Given the description of an element on the screen output the (x, y) to click on. 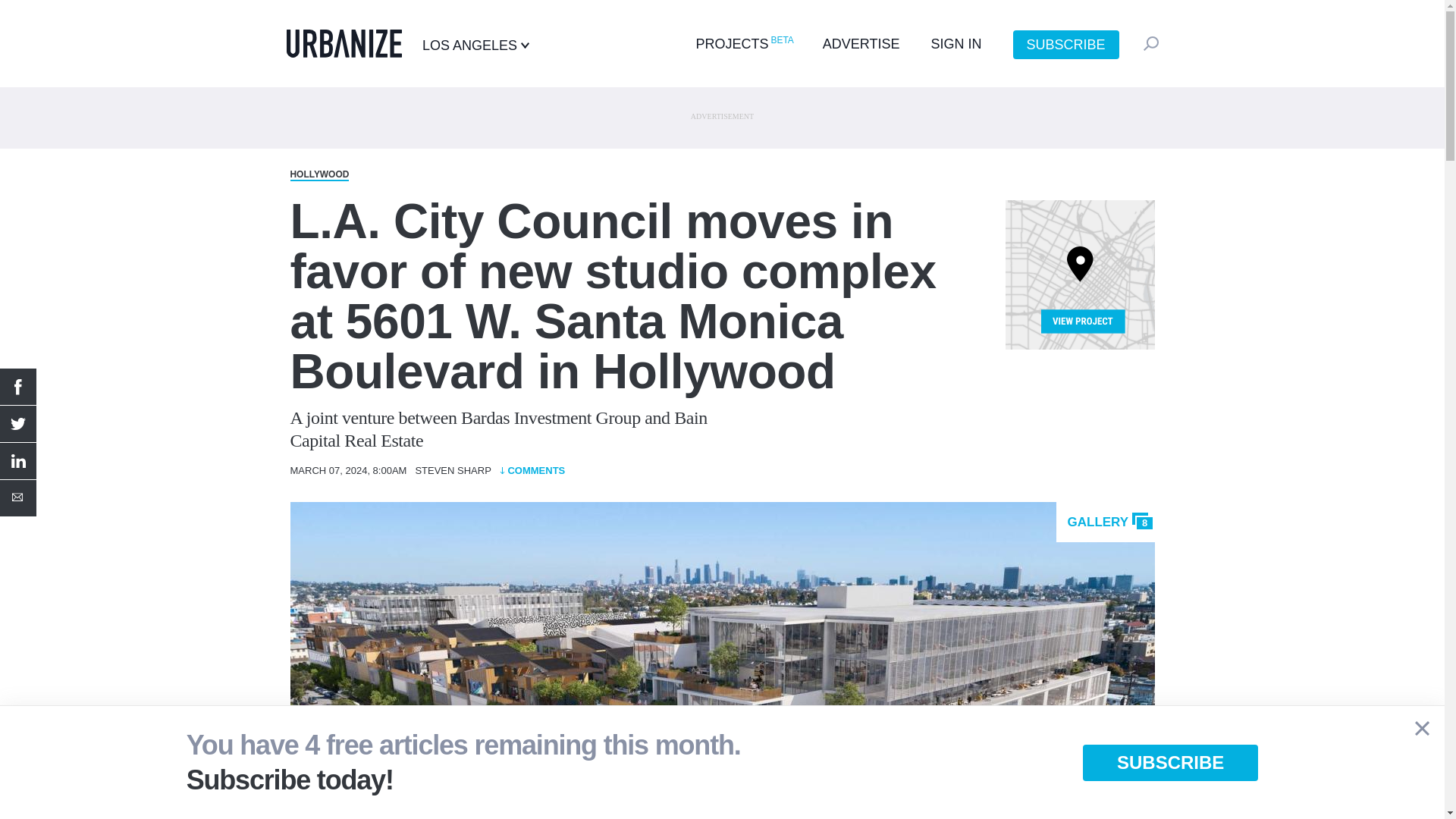
Share by Facebook (18, 386)
SIGN IN (956, 43)
Share by LinkedIn (18, 461)
ADVERTISE (860, 43)
PROJECTSBETA (742, 43)
Share by email (18, 497)
SUBSCRIBE (1066, 44)
LOS ANGELES (475, 45)
Share by Twitter (18, 423)
